Given the description of an element on the screen output the (x, y) to click on. 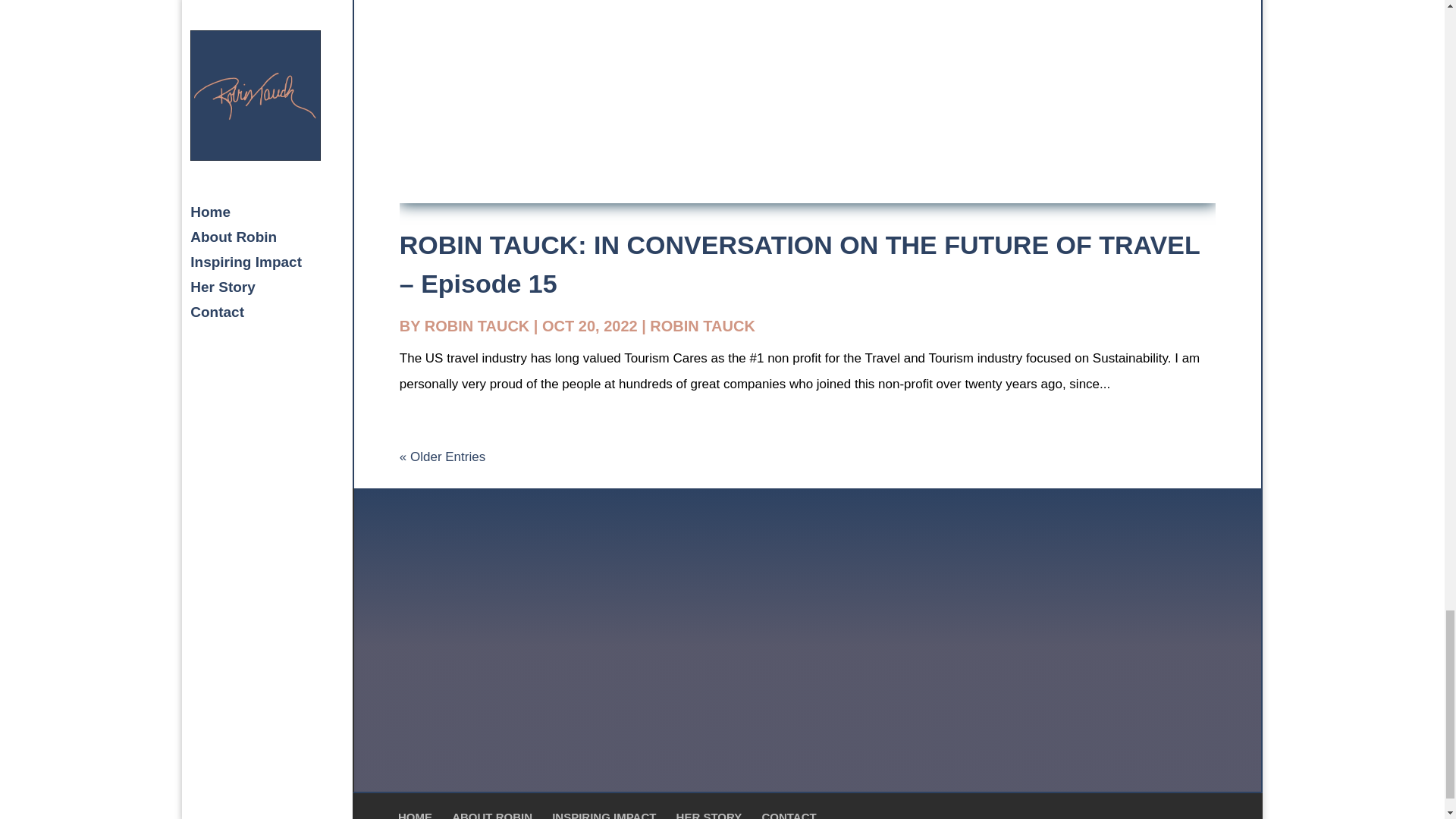
ROBIN TAUCK (702, 325)
ROBIN TAUCK (477, 325)
Posts by Robin Tauck (477, 325)
